Given the description of an element on the screen output the (x, y) to click on. 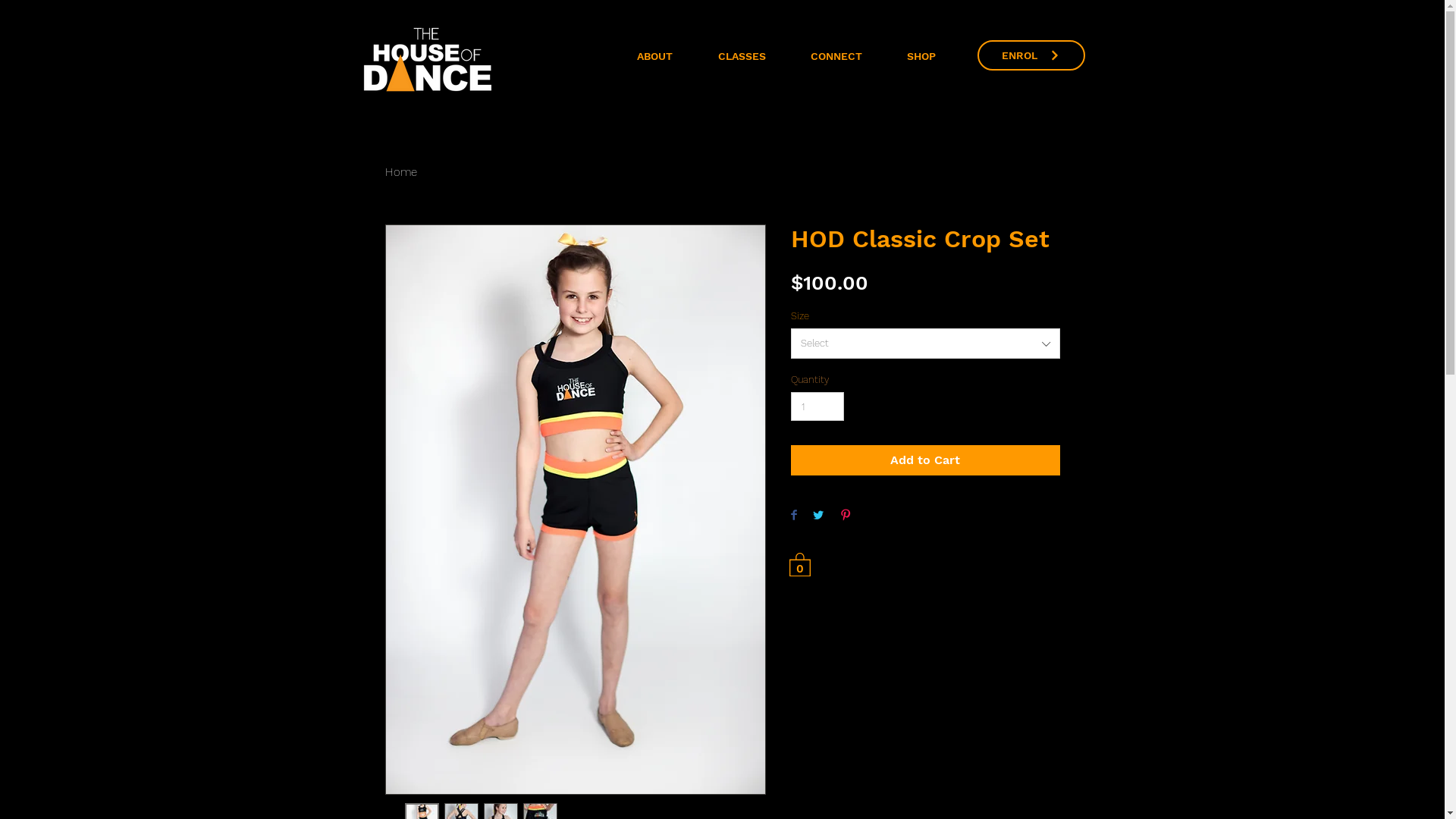
ENROL Element type: text (1030, 55)
SHOP Element type: text (920, 56)
Home Element type: text (401, 171)
Select Element type: text (924, 343)
Add to Cart Element type: text (924, 460)
0 Element type: text (798, 563)
